Given the description of an element on the screen output the (x, y) to click on. 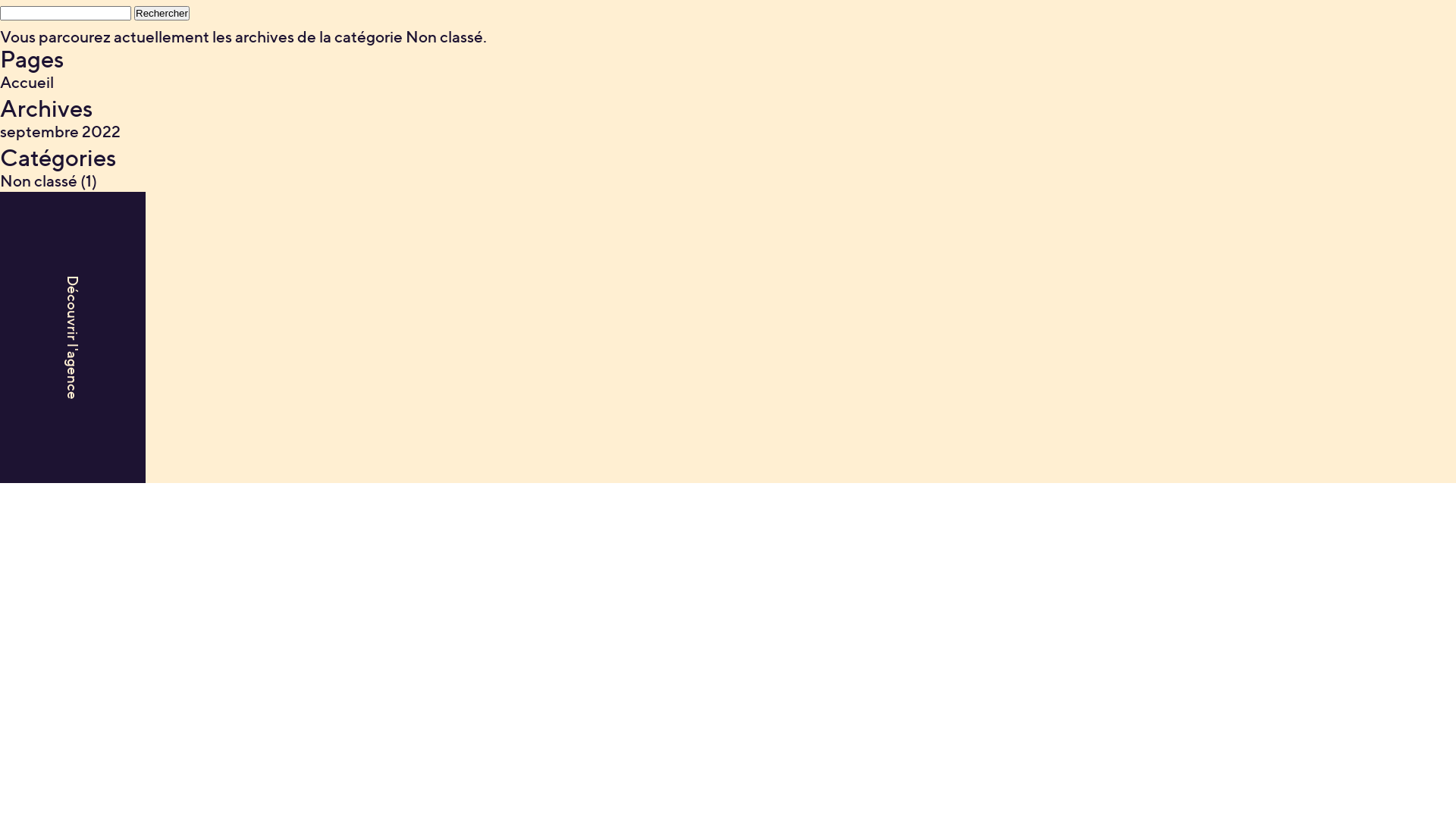
Rechercher Element type: text (161, 13)
septembre 2022 Element type: text (60, 131)
Accueil Element type: text (26, 81)
